Given the description of an element on the screen output the (x, y) to click on. 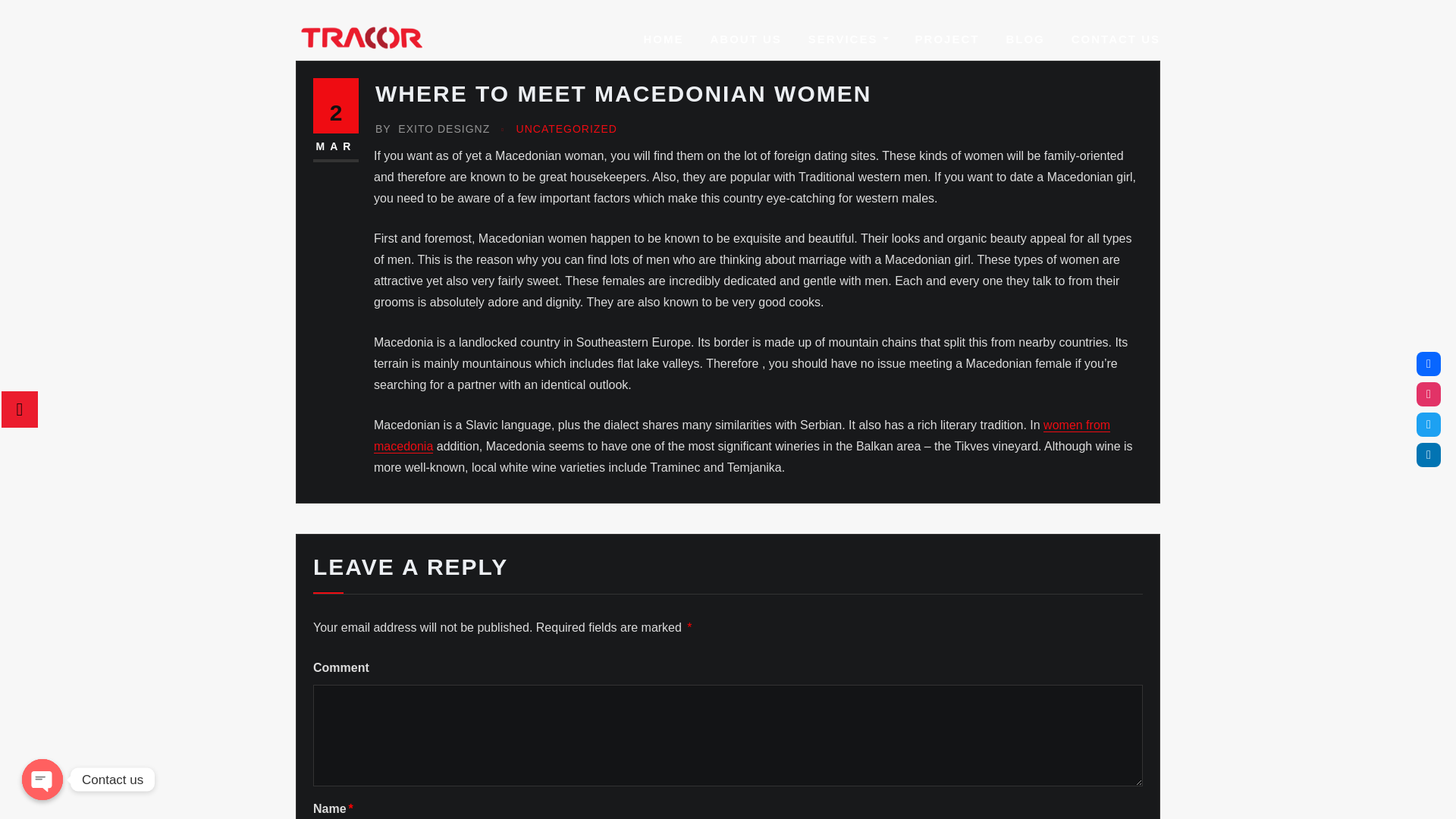
UNCATEGORIZED (566, 128)
BLOG (1024, 39)
ABOUT US (745, 39)
LinkedIn (1428, 454)
Instagram (1428, 394)
Facebook (1428, 363)
SERVICES (848, 39)
HOME (662, 39)
PROJECT (947, 39)
Twitter (1428, 424)
CONTACT US (1115, 39)
BY EXITO DESIGNZ (432, 128)
women from macedonia (741, 435)
